Given the description of an element on the screen output the (x, y) to click on. 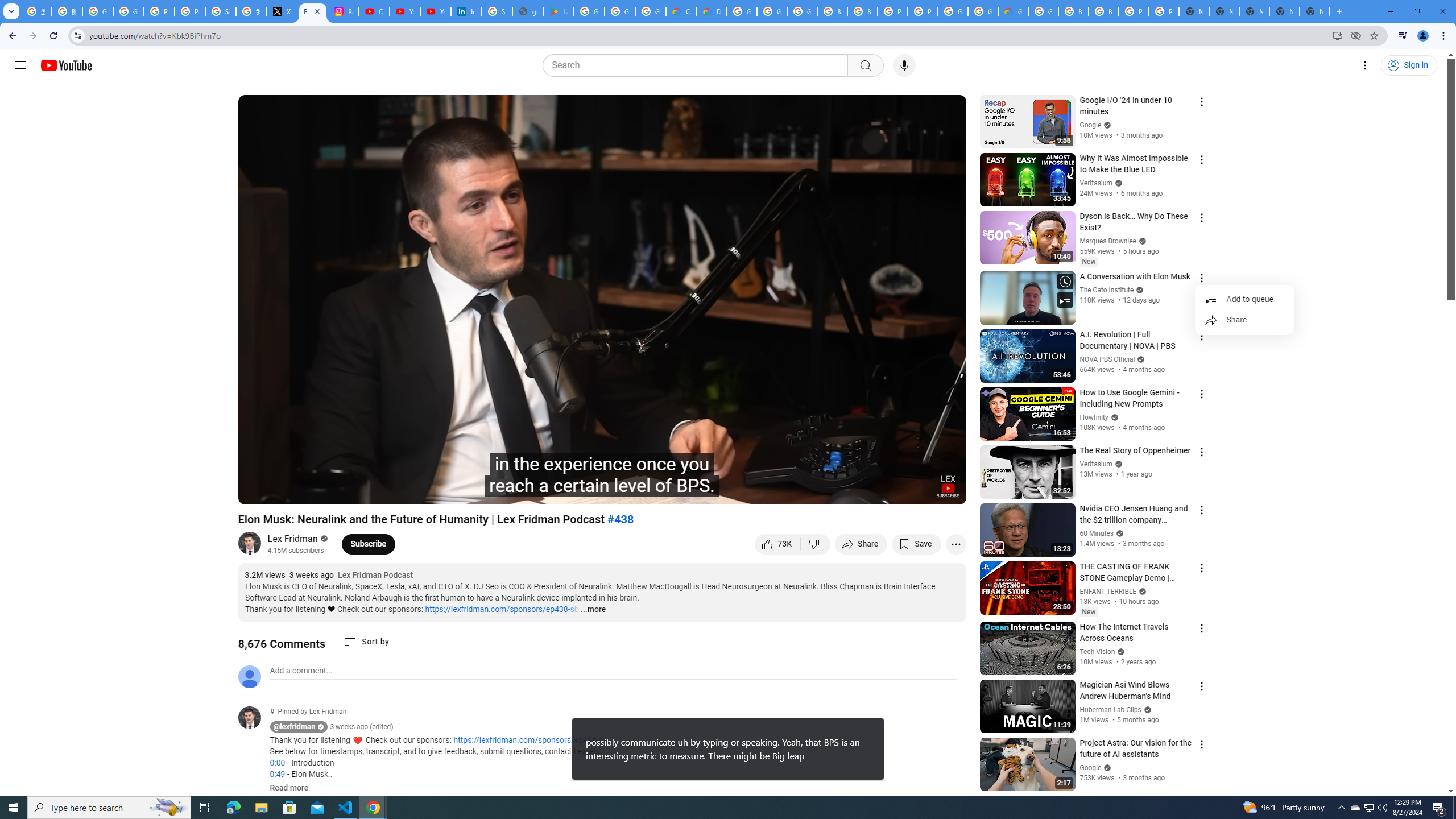
Google Workspace - Specific Terms (619, 11)
google_privacy_policy_en.pdf (527, 11)
Sort comments (366, 641)
Miniplayer (i) (890, 490)
Google Cloud Platform (741, 11)
Share (1243, 319)
https://lexfridman.com/sponsors/ep438-sb (502, 609)
